Given the description of an element on the screen output the (x, y) to click on. 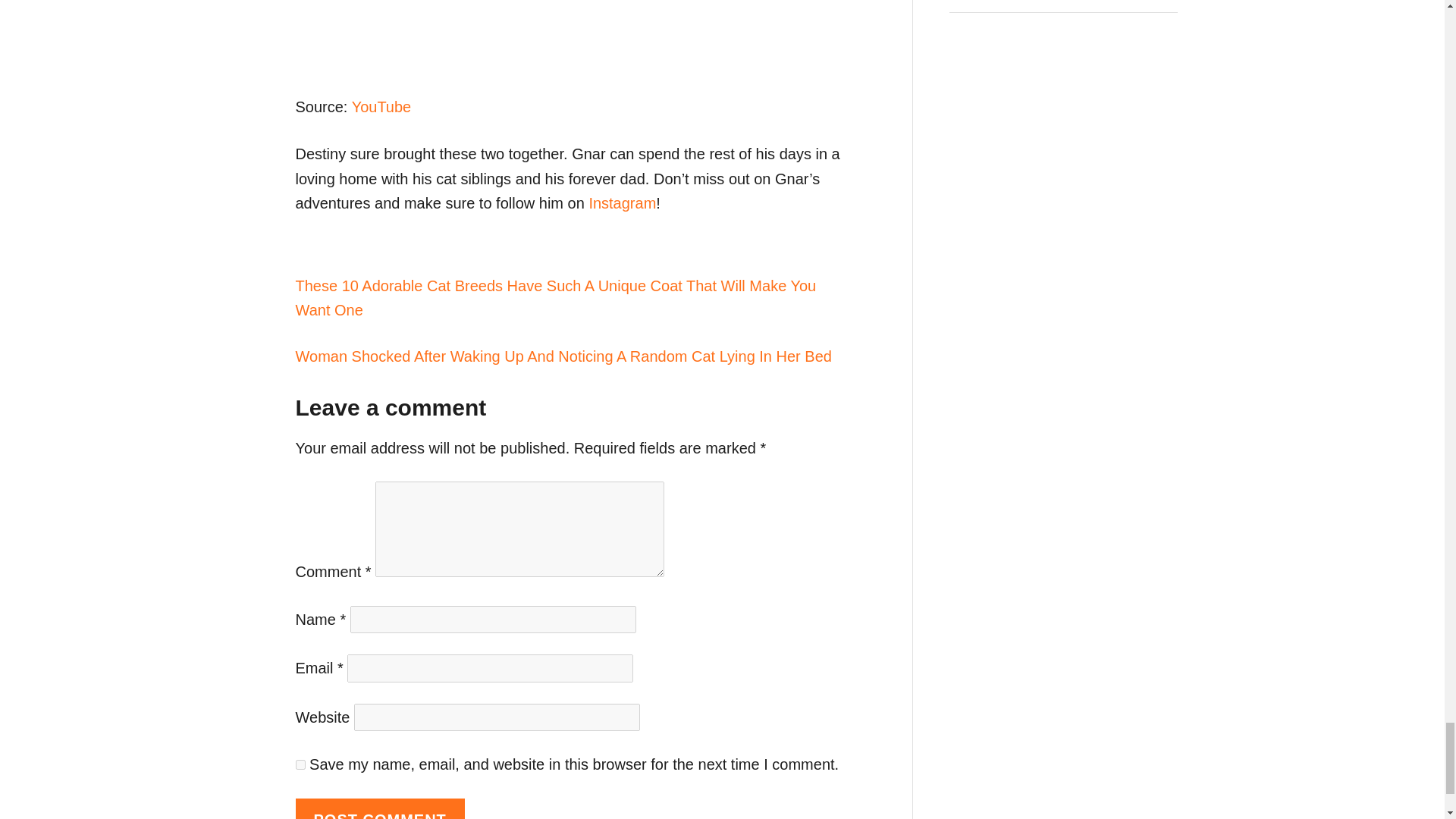
Post Comment (379, 808)
yes (300, 764)
YouTube (382, 106)
Instagram (622, 202)
Post Comment (379, 808)
